Given the description of an element on the screen output the (x, y) to click on. 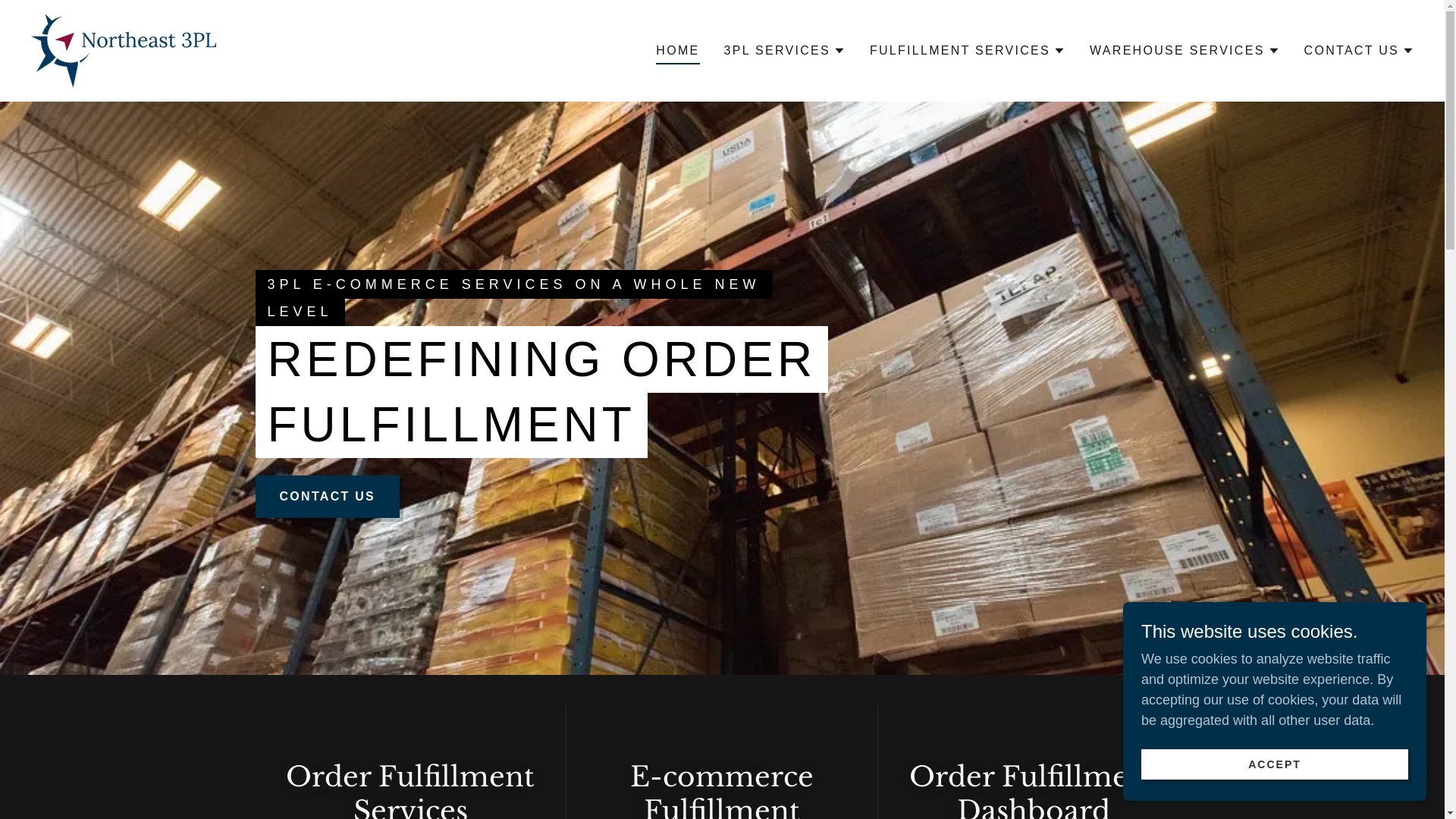
HOME Element type: text (677, 52)
WAREHOUSE SERVICES Element type: text (1184, 50)
ACCEPT Element type: text (1274, 764)
Northeast 3PL Element type: hover (123, 49)
CONTACT US Element type: text (1359, 50)
CONTACT US Element type: text (326, 496)
FULFILLMENT SERVICES Element type: text (967, 50)
3PL SERVICES Element type: text (783, 50)
